Given the description of an element on the screen output the (x, y) to click on. 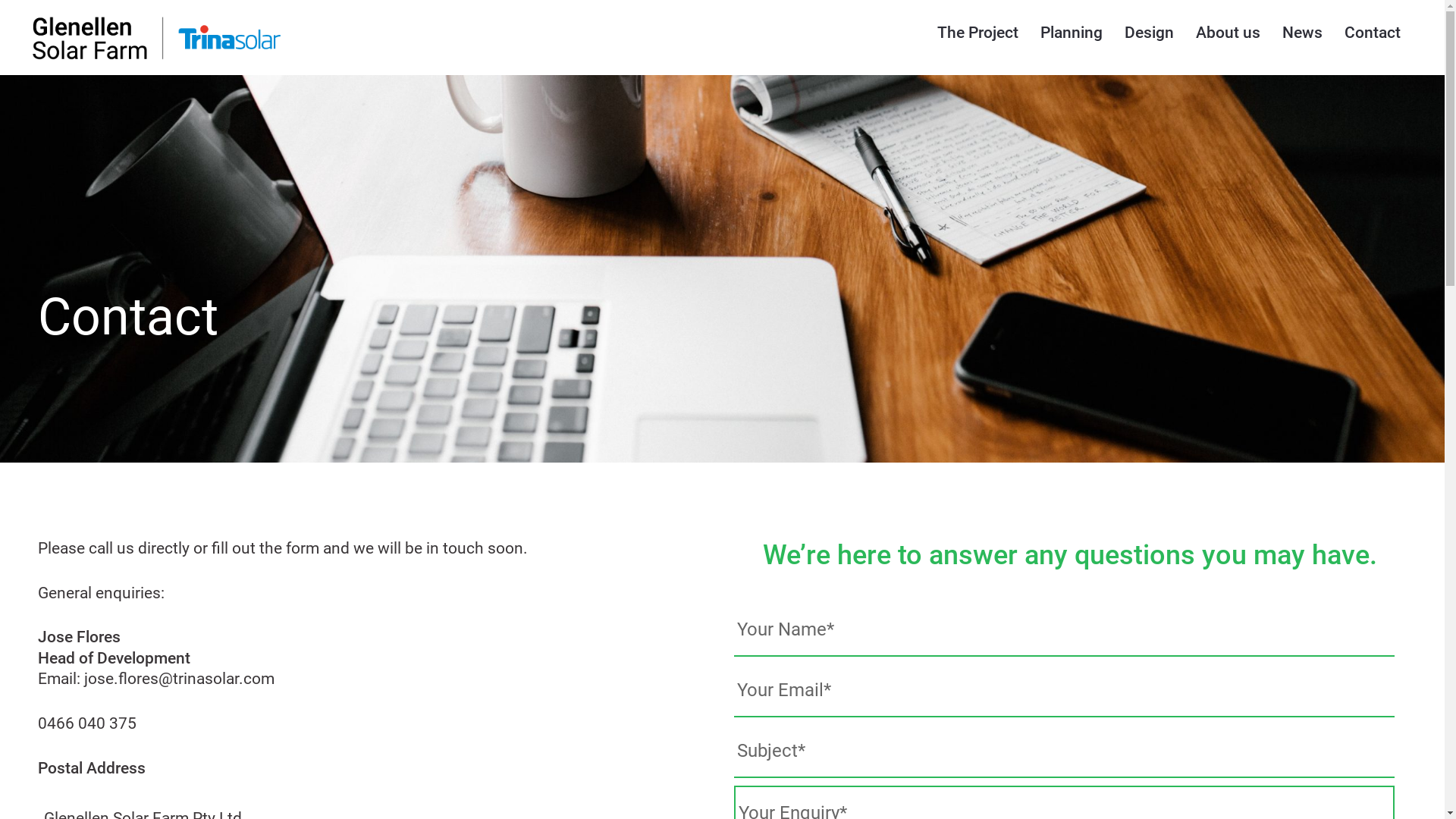
Contact Element type: text (1372, 32)
Glenellen Solar Farm Element type: hover (252, 43)
Skip to content Element type: text (0, 0)
About us Element type: text (1227, 32)
Design Element type: text (1148, 32)
The Project Element type: text (977, 32)
Planning Element type: text (1071, 32)
News Element type: text (1302, 32)
